Given the description of an element on the screen output the (x, y) to click on. 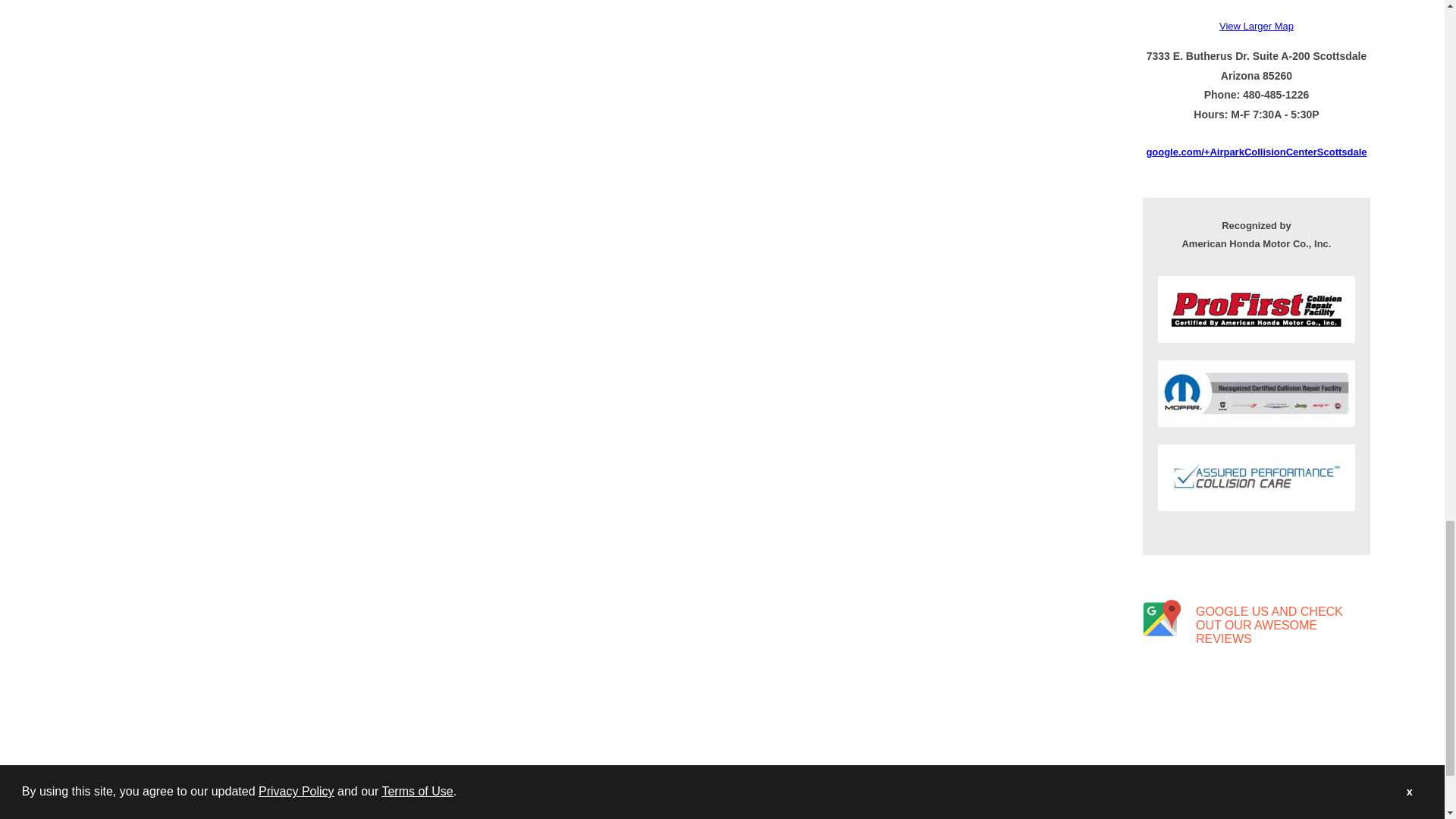
View Larger Map (1257, 25)
